Given the description of an element on the screen output the (x, y) to click on. 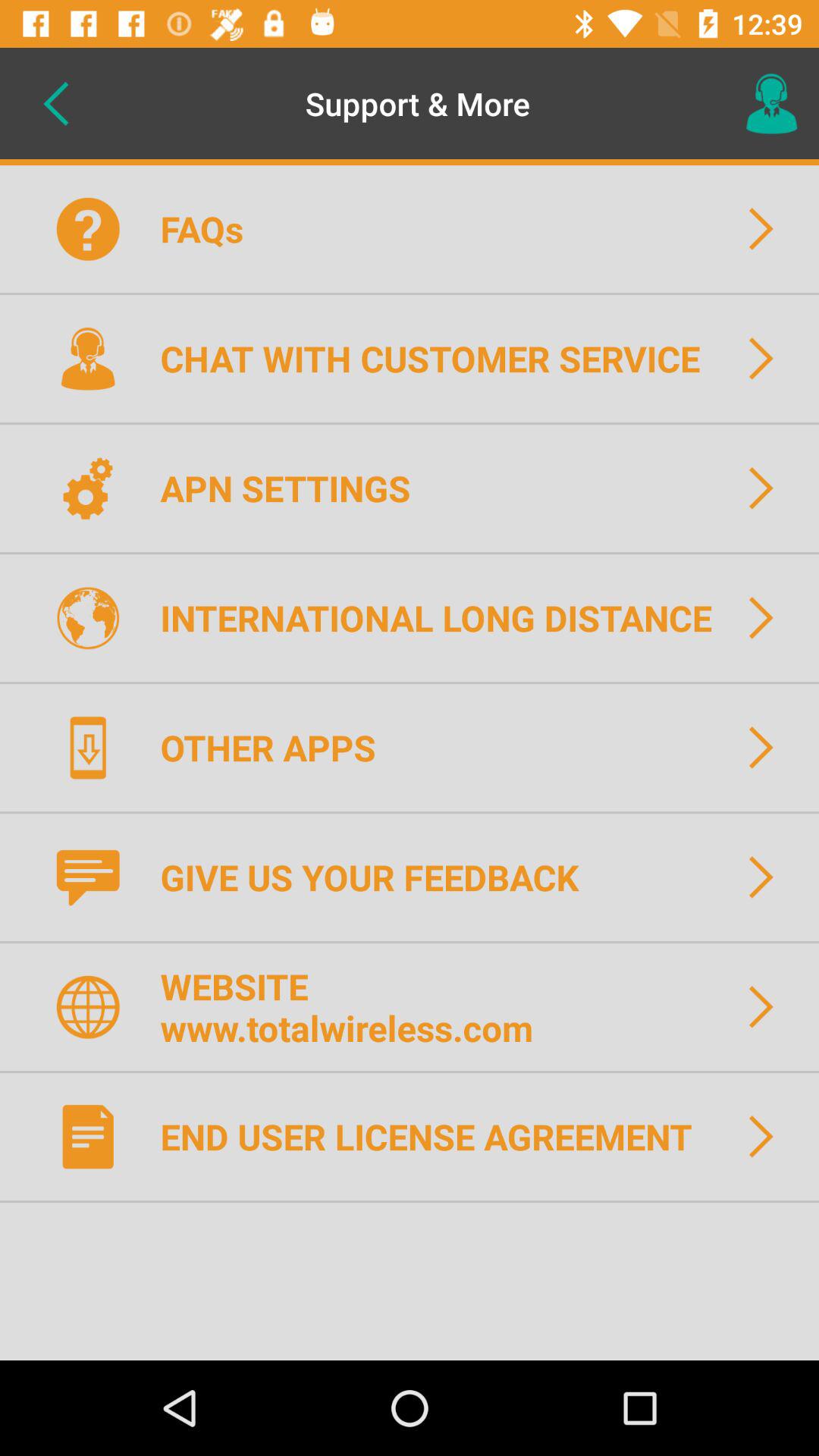
select item to the left of support & more (55, 103)
